Given the description of an element on the screen output the (x, y) to click on. 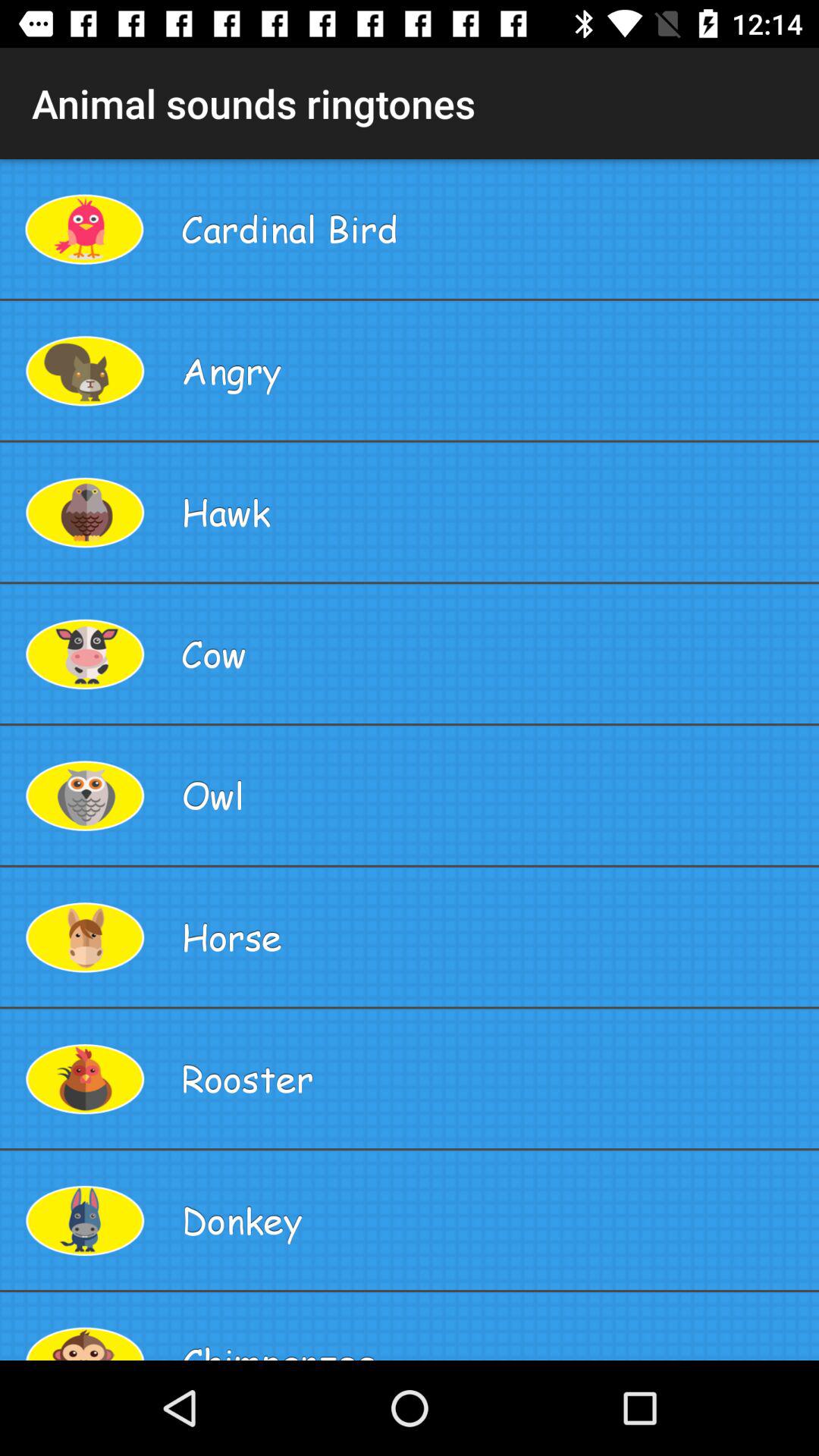
click the chimpanzee app (494, 1326)
